Given the description of an element on the screen output the (x, y) to click on. 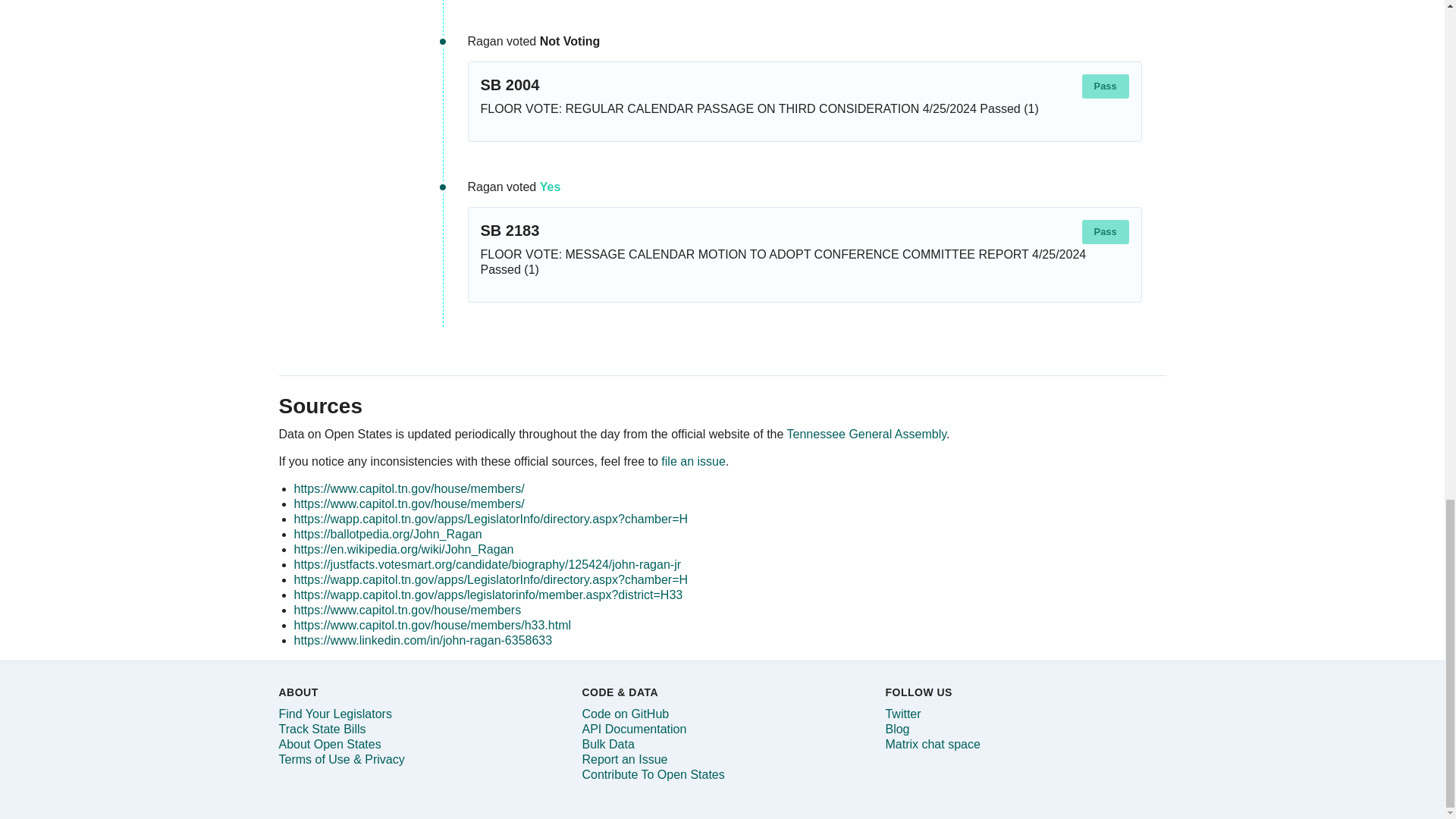
Bulk Data (606, 744)
Find Your Legislators (335, 713)
file an issue (693, 461)
API Documentation (632, 728)
Tennessee General Assembly (866, 433)
Track State Bills (322, 728)
About Open States (330, 744)
Code on GitHub (624, 713)
